Given the description of an element on the screen output the (x, y) to click on. 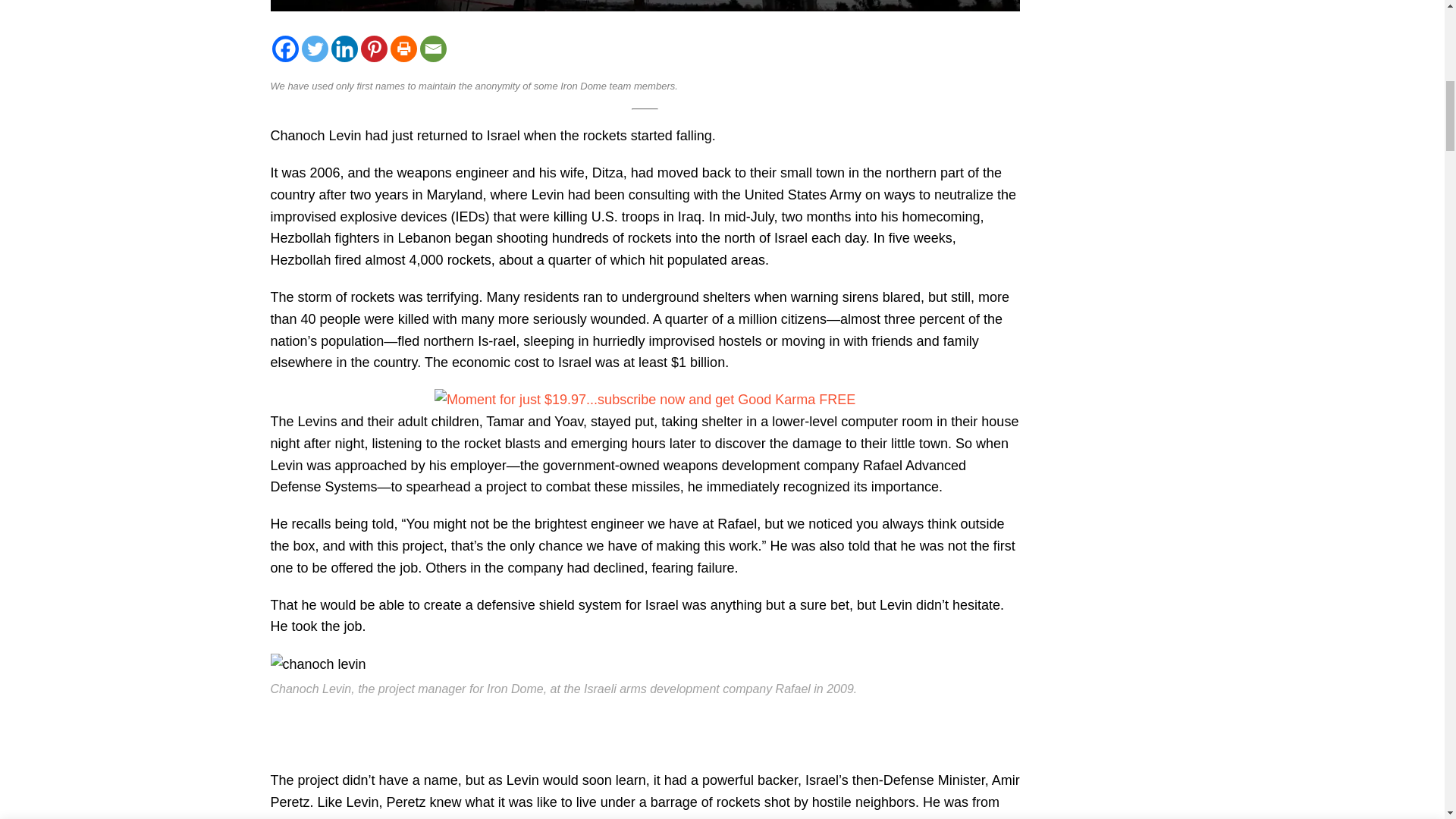
Print (403, 49)
Facebook (284, 49)
Twitter (315, 49)
Pinterest (374, 49)
Linkedin (343, 49)
Email (433, 49)
